Given the description of an element on the screen output the (x, y) to click on. 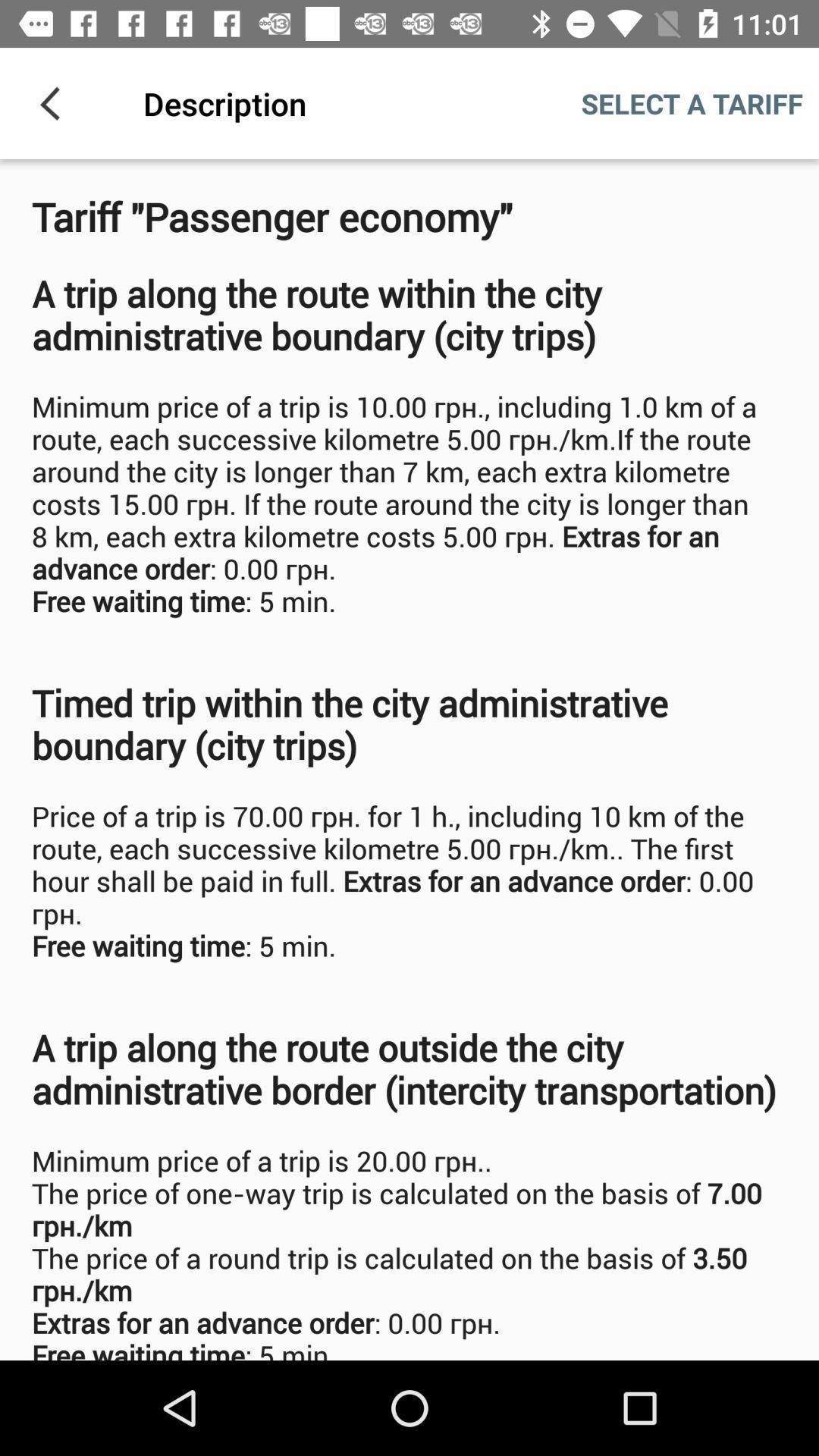
select icon to the left of the description (55, 103)
